Given the description of an element on the screen output the (x, y) to click on. 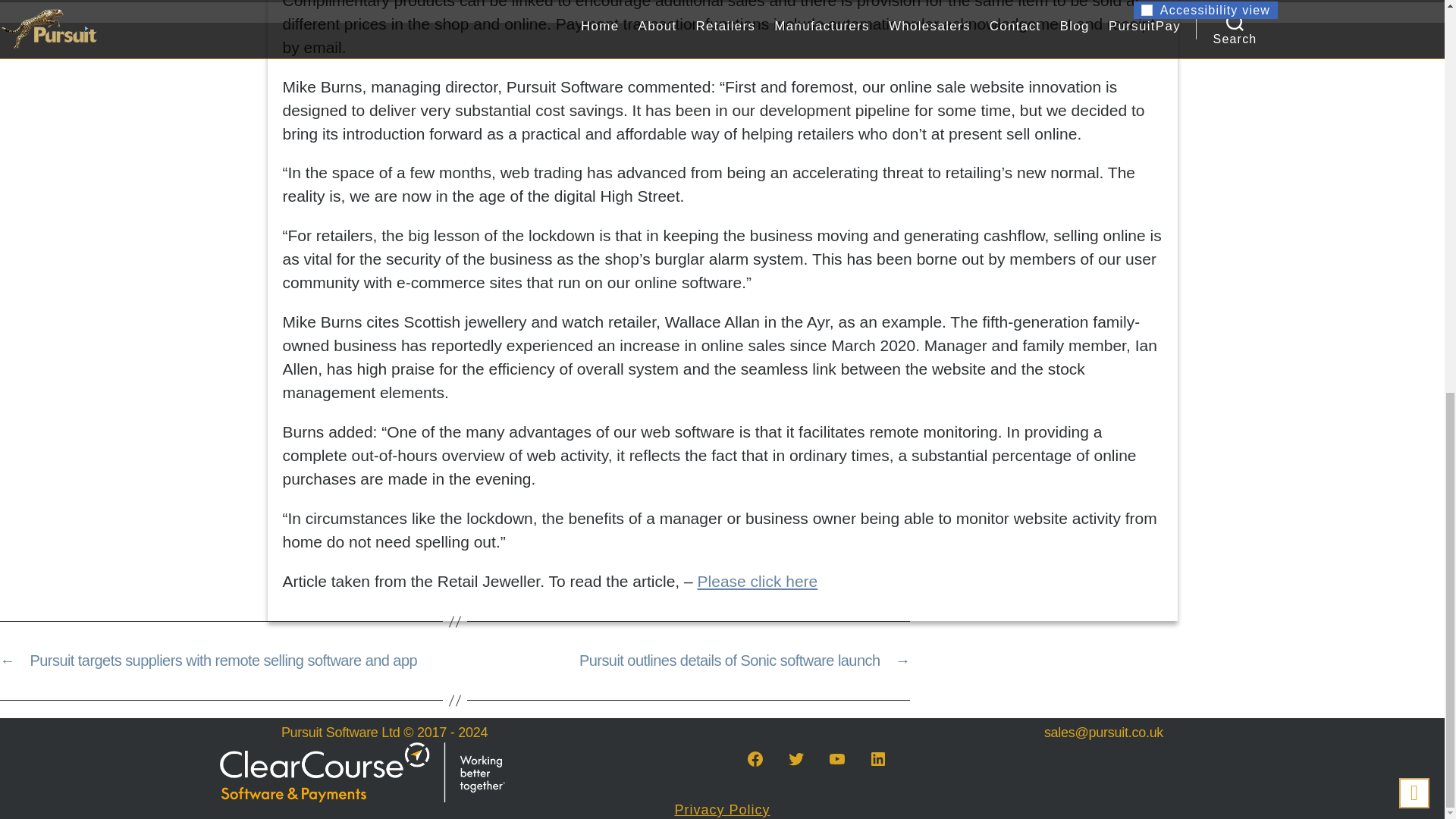
Twitter (795, 758)
Pursuit Software Ltd (342, 732)
Facebook (754, 758)
Please click here (757, 580)
